Given the description of an element on the screen output the (x, y) to click on. 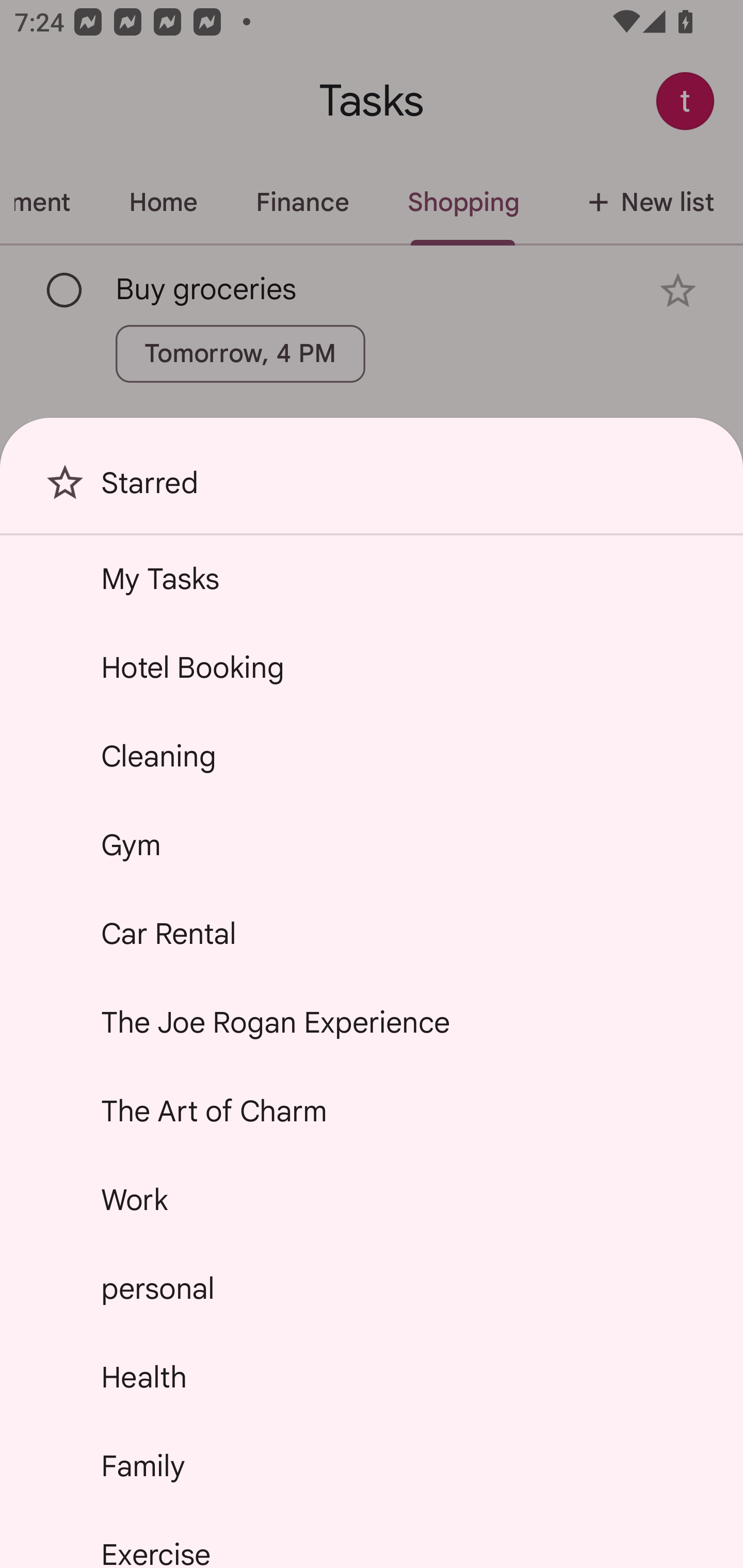
Starred (371, 489)
My Tasks (371, 578)
Hotel Booking (371, 667)
Cleaning (371, 756)
Gym (371, 844)
Car Rental (371, 933)
The Joe Rogan Experience (371, 1022)
The Art of Charm (371, 1110)
Work (371, 1200)
personal (371, 1287)
Health (371, 1377)
Family (371, 1465)
Exercise (371, 1539)
